Given the description of an element on the screen output the (x, y) to click on. 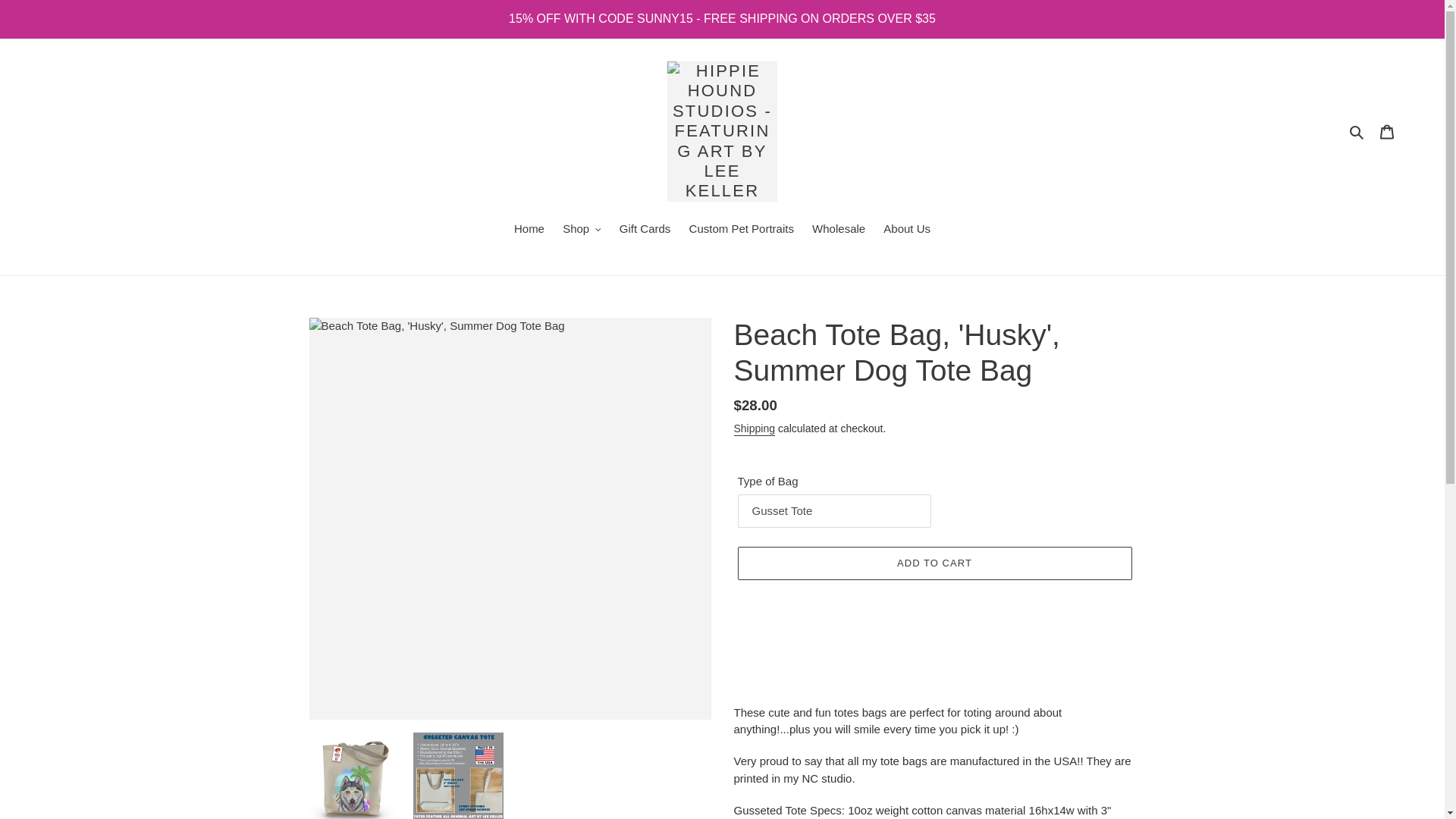
Cart (1387, 131)
Search (1357, 131)
